Given the description of an element on the screen output the (x, y) to click on. 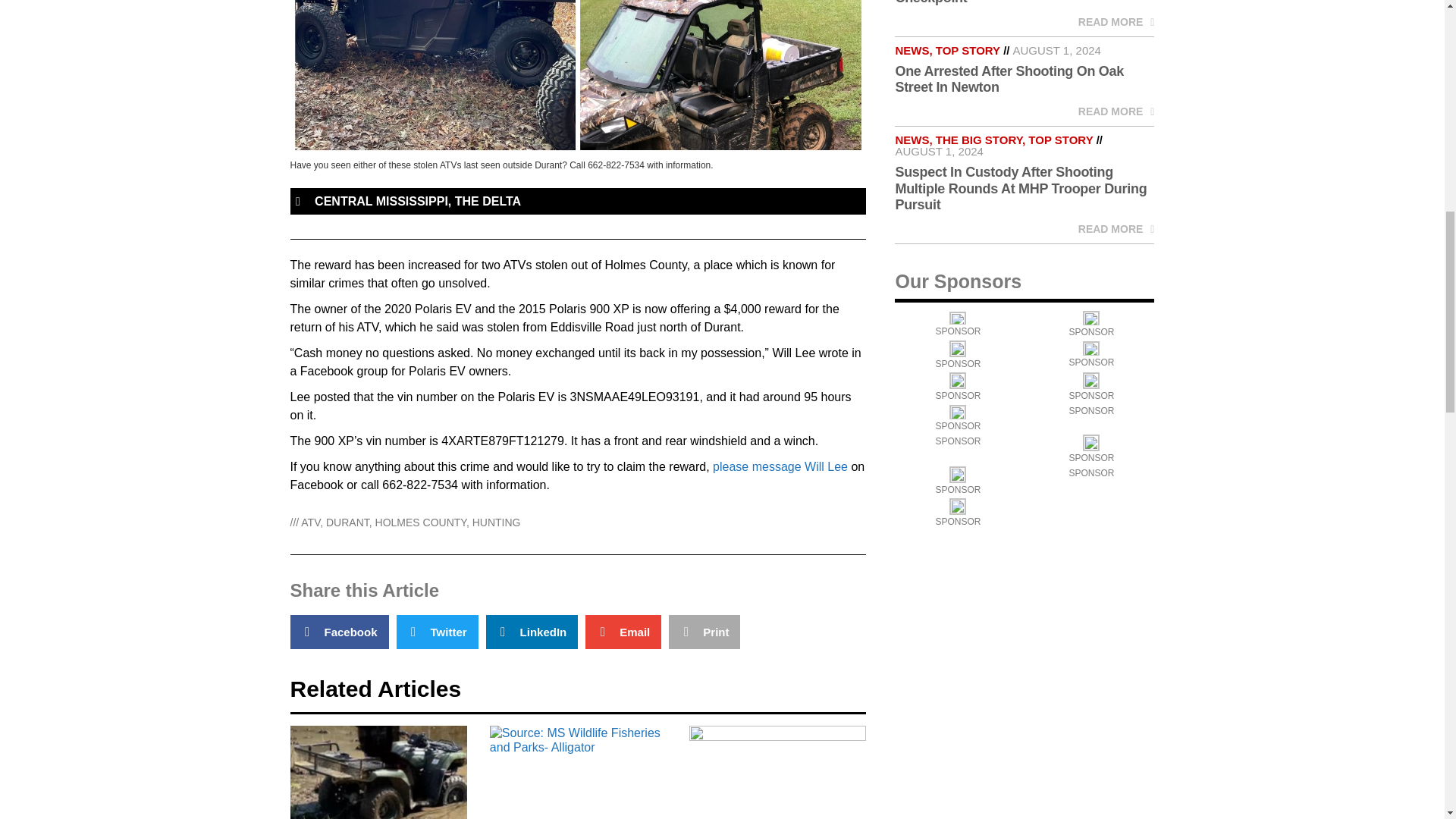
please message Will Lee (780, 466)
HUNTING (496, 522)
ATV (310, 522)
HOLMES COUNTY (420, 522)
CENTRAL MISSISSIPPI (381, 201)
THE DELTA (487, 201)
DURANT (347, 522)
